Given the description of an element on the screen output the (x, y) to click on. 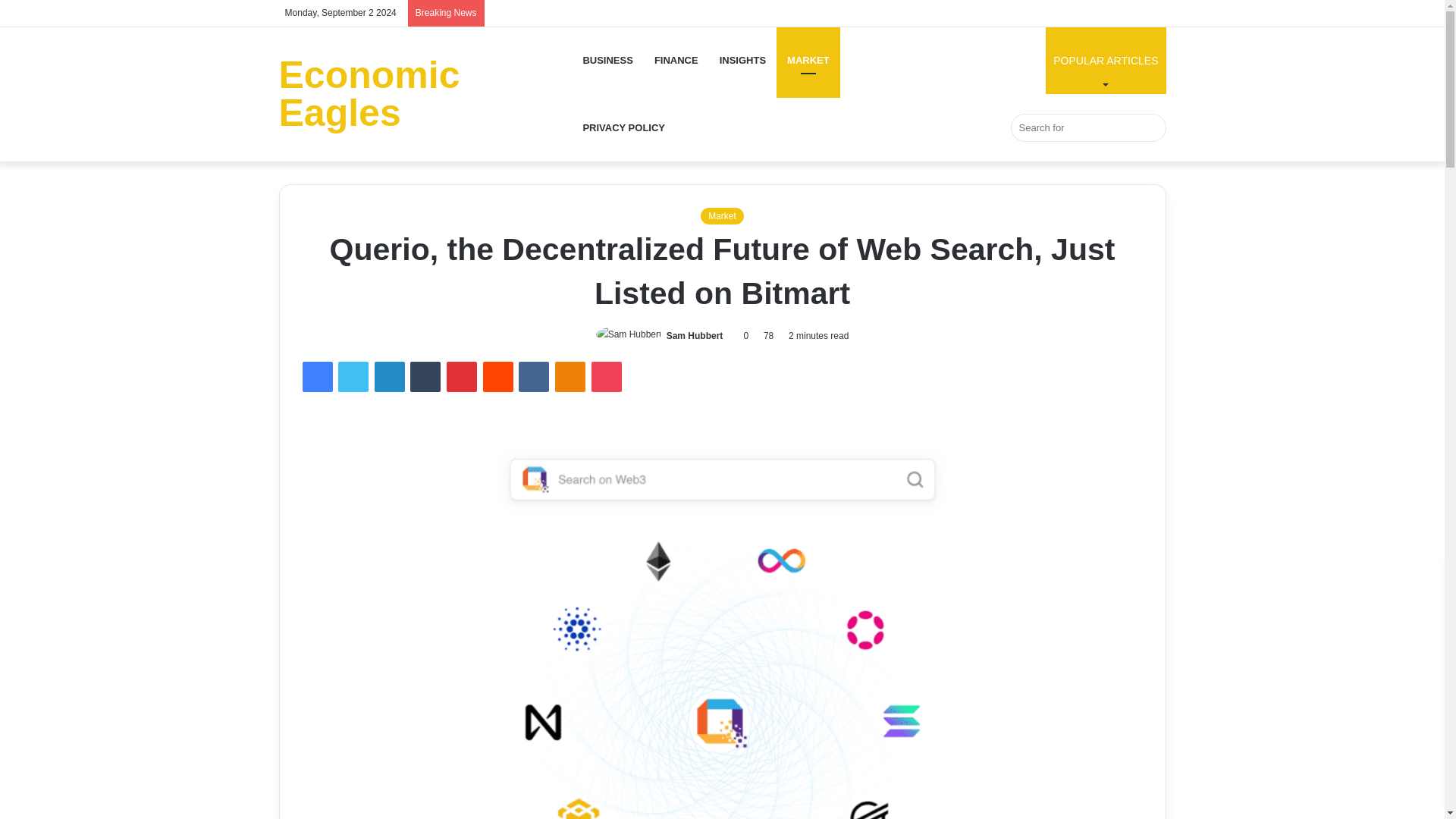
MARKET (808, 60)
Facebook (316, 376)
BUSINESS (607, 60)
Economic Eagles (425, 93)
Twitter (352, 376)
INSIGHTS (742, 60)
FINANCE (676, 60)
Reddit (498, 376)
Tumblr (425, 376)
VKontakte (533, 376)
